Given the description of an element on the screen output the (x, y) to click on. 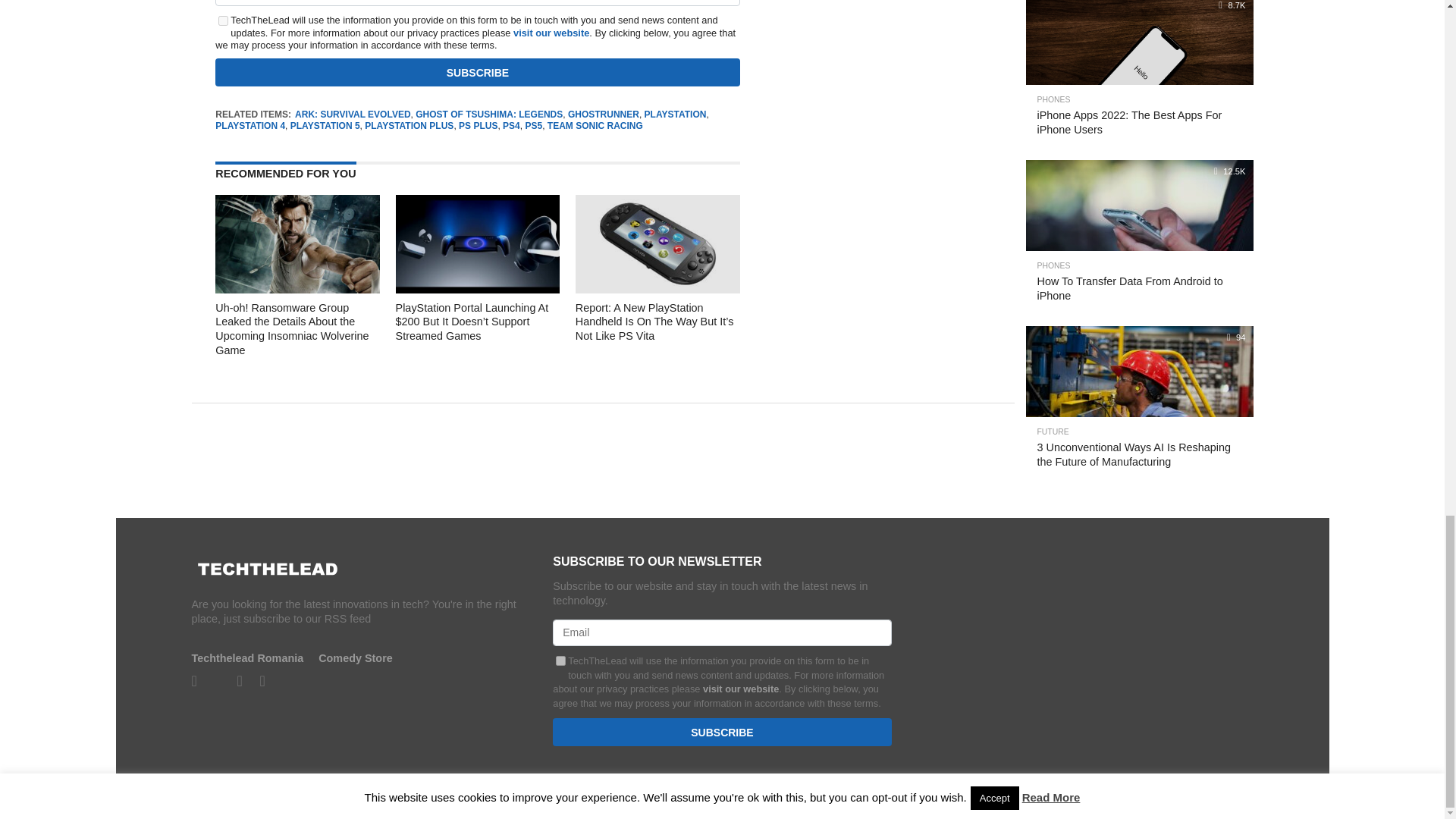
Subscribe (477, 72)
1 (561, 660)
1 (223, 20)
Subscribe (722, 732)
